Given the description of an element on the screen output the (x, y) to click on. 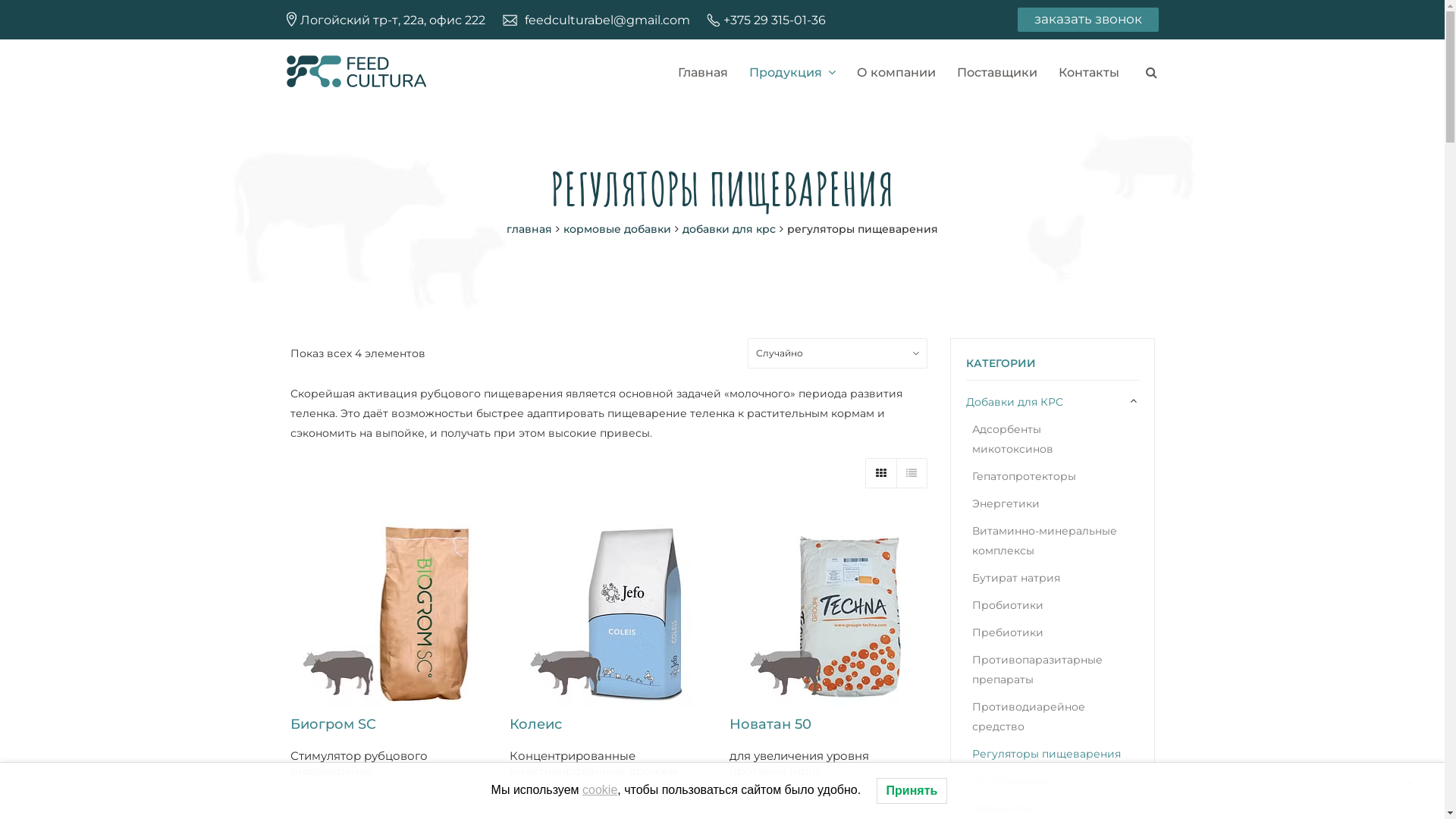
feedculturabel@gmail.com Element type: text (607, 19)
cookie Element type: text (599, 789)
+375 29 315-01-36 Element type: text (774, 19)
